Given the description of an element on the screen output the (x, y) to click on. 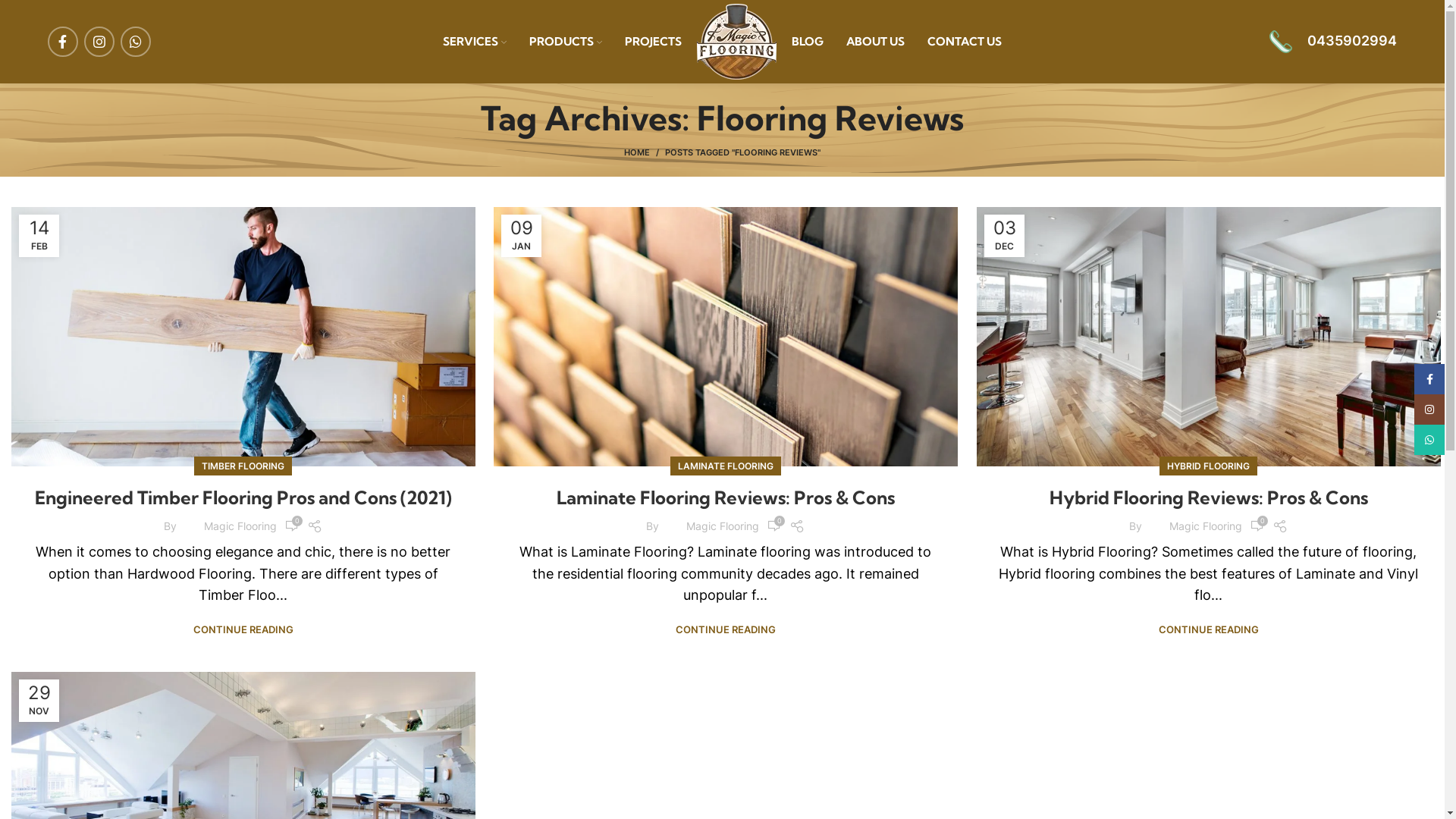
03
DEC Element type: text (1004, 235)
Magic Flooring Element type: text (722, 525)
HYBRID FLOORING Element type: text (1208, 465)
TIMBER FLOORING Element type: text (242, 465)
CONTINUE READING Element type: text (1208, 629)
CONTACT US Element type: text (964, 41)
0 Element type: text (291, 525)
0435902994 Element type: text (1332, 41)
PRODUCTS Element type: text (565, 41)
Engineered Timber Flooring Pros and Cons (2021) Element type: text (242, 497)
0 Element type: text (1256, 525)
ABOUT US Element type: text (875, 41)
CONTINUE READING Element type: text (243, 629)
PROJECTS Element type: text (653, 41)
BLOG Element type: text (807, 41)
29
NOV Element type: text (38, 700)
Laminate Flooring Reviews: Pros & Cons Element type: text (725, 497)
Magic Flooring Element type: text (1205, 525)
14
FEB Element type: text (38, 235)
CONTINUE READING Element type: text (725, 629)
SERVICES Element type: text (474, 41)
HOME Element type: text (644, 152)
0 Element type: text (773, 525)
LAMINATE FLOORING Element type: text (725, 465)
Hybrid Flooring Reviews: Pros & Cons Element type: text (1208, 497)
09
JAN Element type: text (521, 235)
Magic Flooring Element type: text (239, 525)
